Given the description of an element on the screen output the (x, y) to click on. 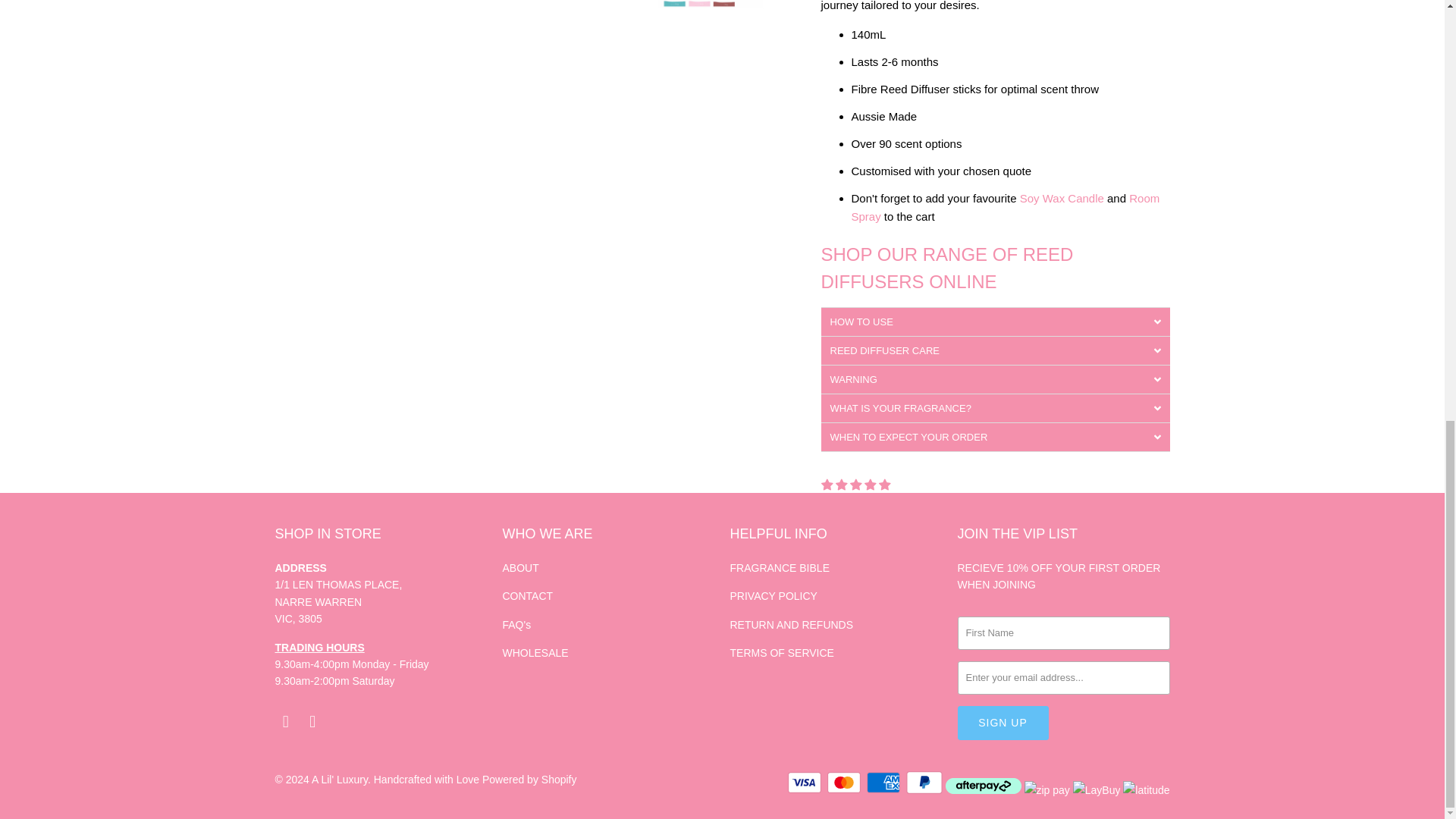
American Express (884, 782)
Fragranced Room Spray - A Lil Luxury (1004, 206)
Online Reed Diffusers for Home or Office - A Lil Luxury (947, 267)
Mastercard (845, 782)
A Lil' Luxury on Instagram (312, 721)
PayPal (923, 782)
Candles Online - A Lil Luxury (1061, 197)
A Lil' Luxury on Facebook (286, 721)
Visa (805, 782)
A Lil Luxury Bath and Shower Product Store (338, 601)
